Given the description of an element on the screen output the (x, y) to click on. 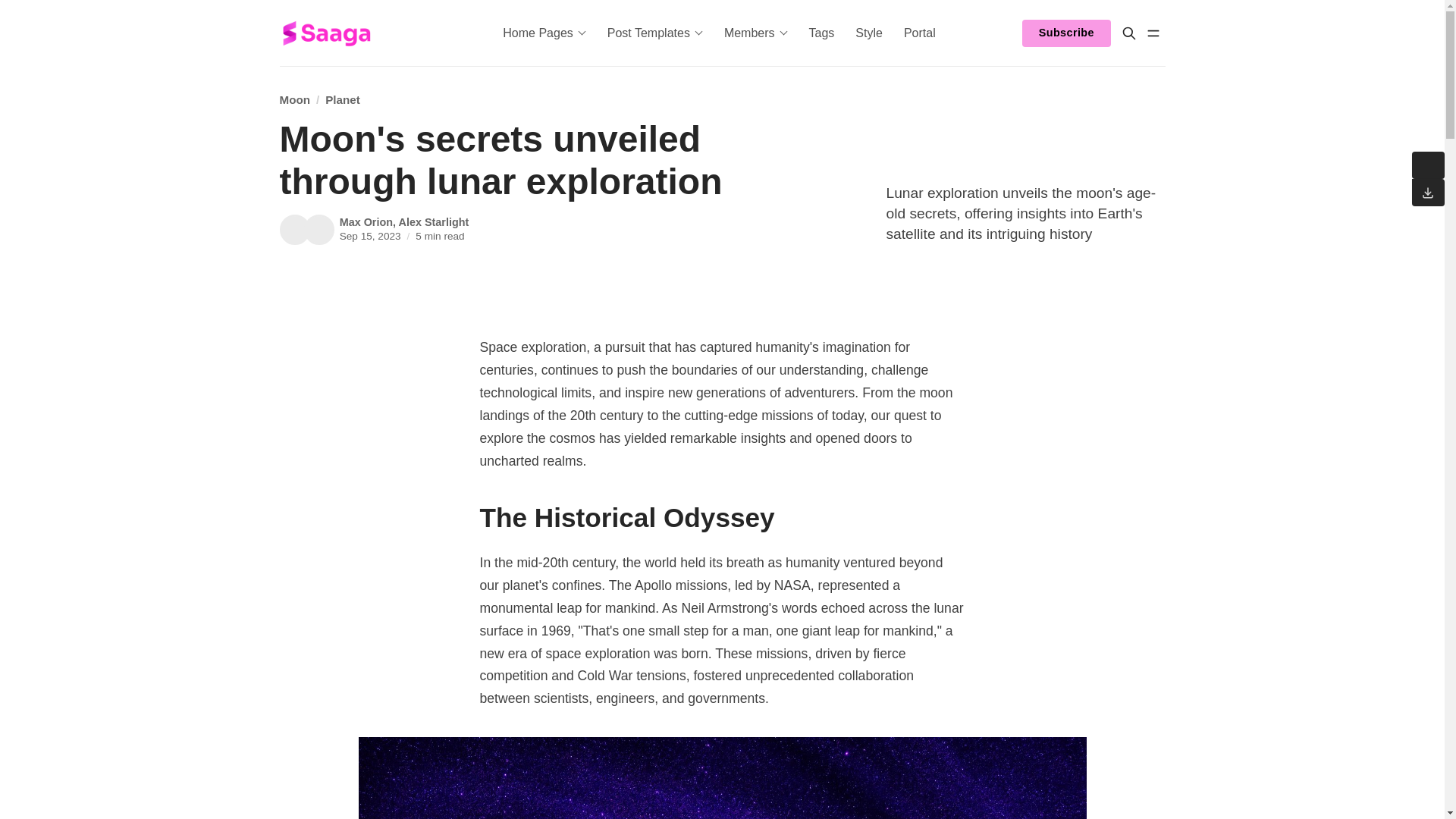
Max Orion (293, 229)
Style (868, 33)
Members (755, 33)
Alex Starlight (317, 229)
Tags (821, 33)
Home Pages (544, 33)
Subscribe (1065, 32)
Menu open (1153, 33)
Search (1128, 33)
Portal (919, 33)
Post Templates (654, 33)
